Given the description of an element on the screen output the (x, y) to click on. 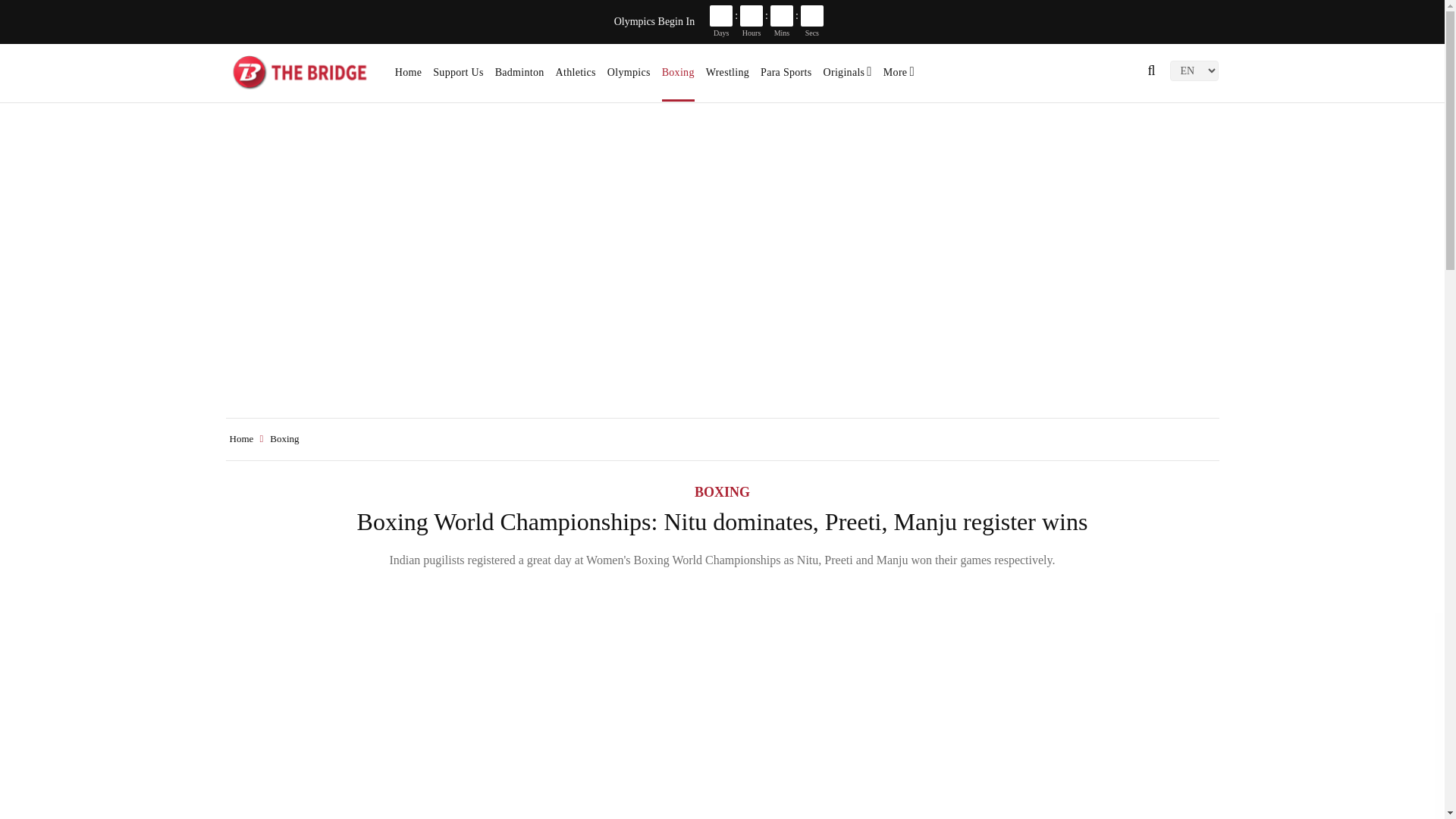
Boxing (678, 77)
Home (408, 77)
Badminton (519, 77)
More (898, 77)
Support Us (457, 77)
Athletics (575, 77)
Originals (848, 77)
Para Sports (785, 77)
Wrestling (727, 77)
Olympics (628, 77)
